Given the description of an element on the screen output the (x, y) to click on. 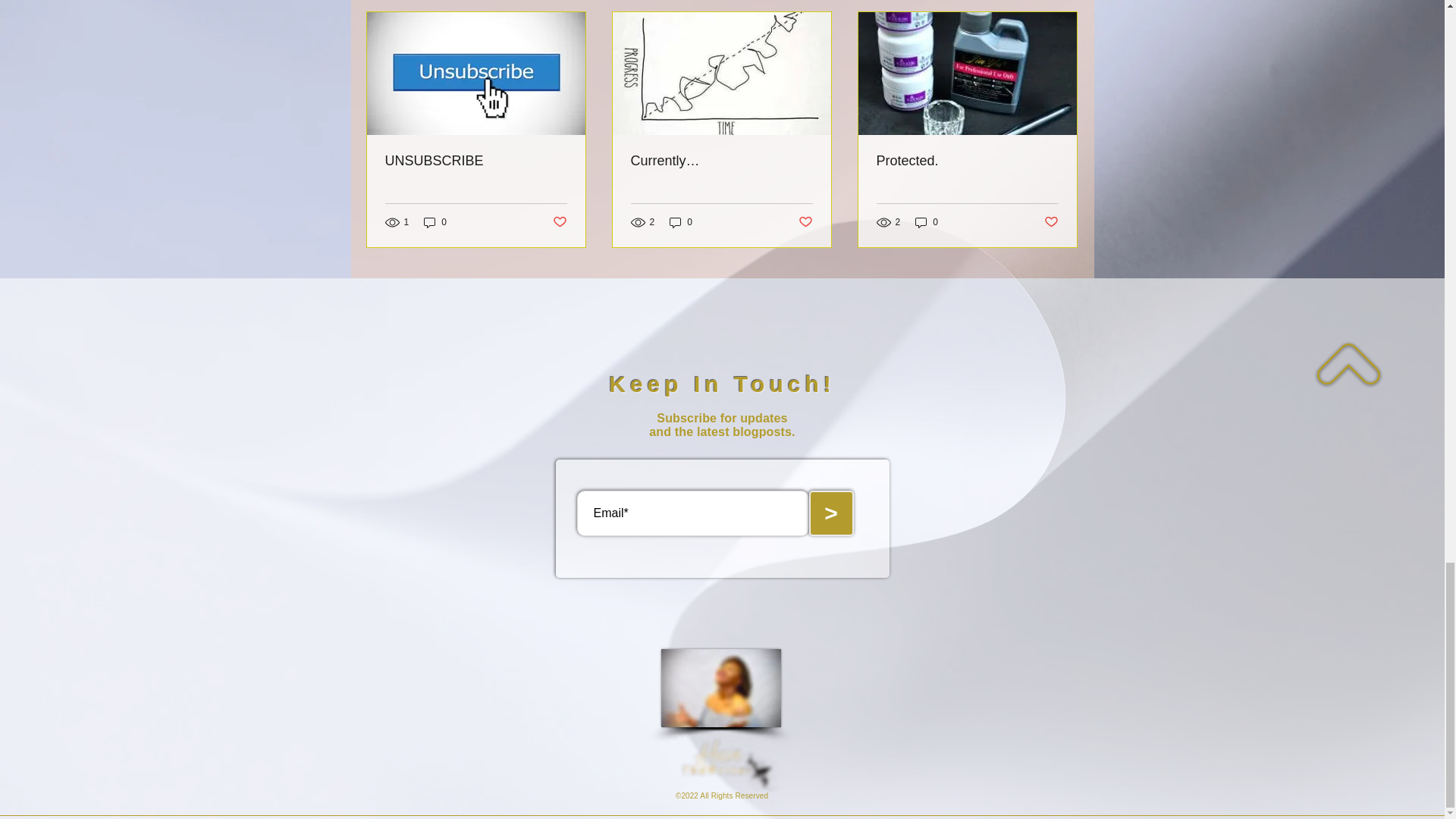
0 (926, 222)
UNSUBSCRIBE (476, 160)
Post not marked as liked (1050, 221)
0 (681, 222)
Post not marked as liked (804, 221)
Post not marked as liked (558, 221)
Protected. (967, 160)
0 (435, 222)
